Given the description of an element on the screen output the (x, y) to click on. 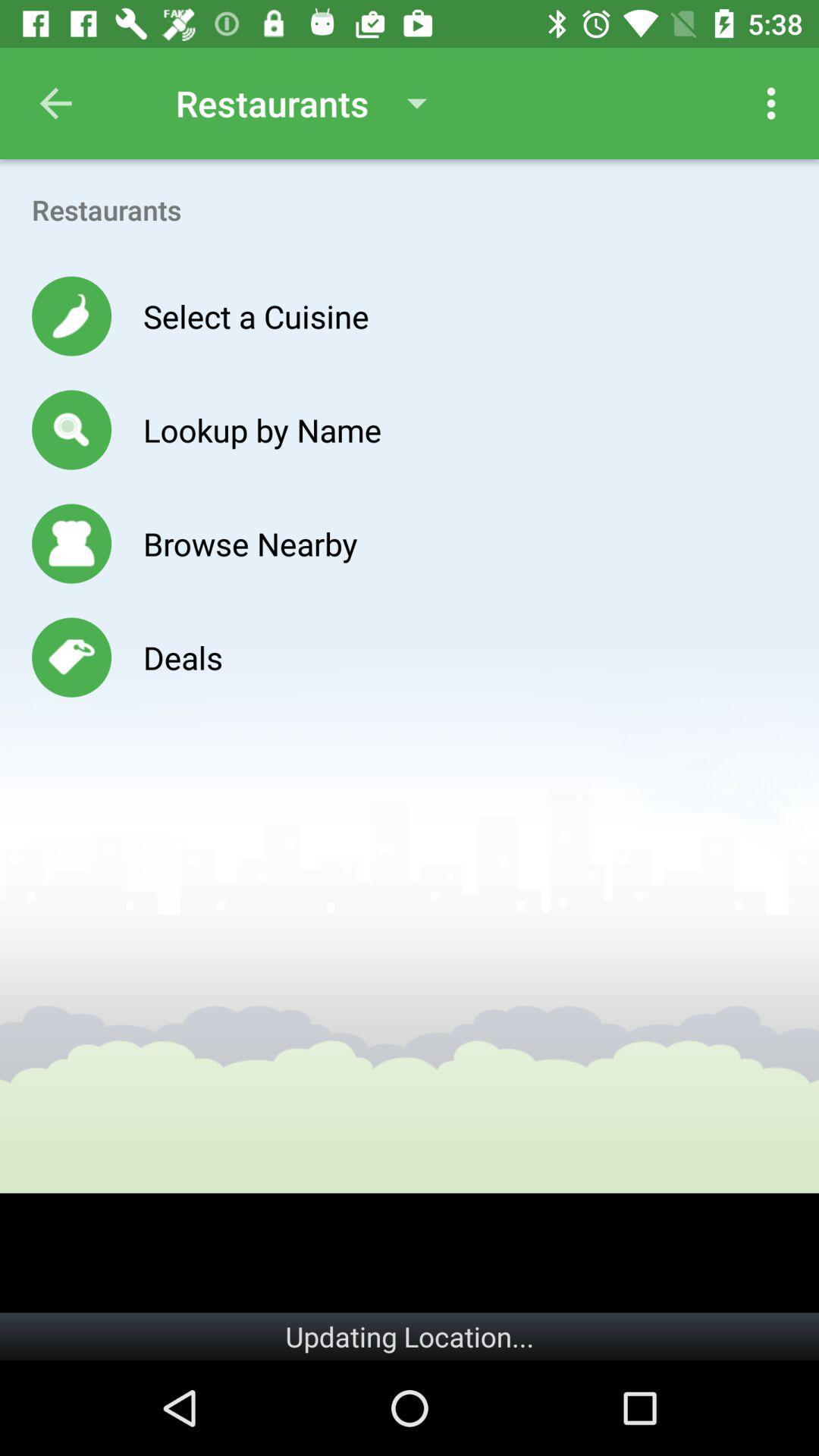
launch the icon above the browse nearby icon (262, 429)
